Given the description of an element on the screen output the (x, y) to click on. 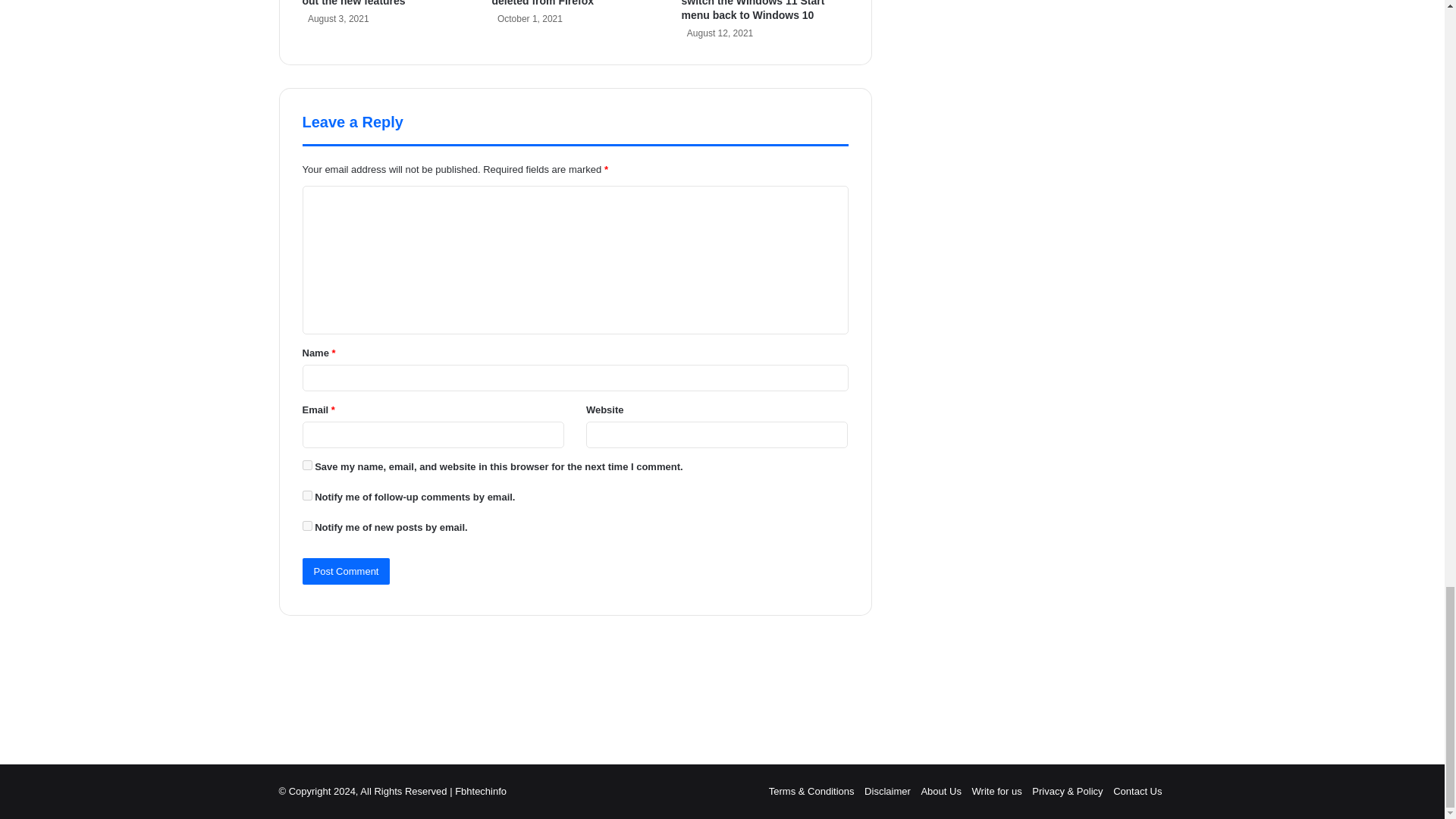
yes (306, 465)
subscribe (306, 525)
Post Comment (345, 570)
subscribe (306, 495)
